Given the description of an element on the screen output the (x, y) to click on. 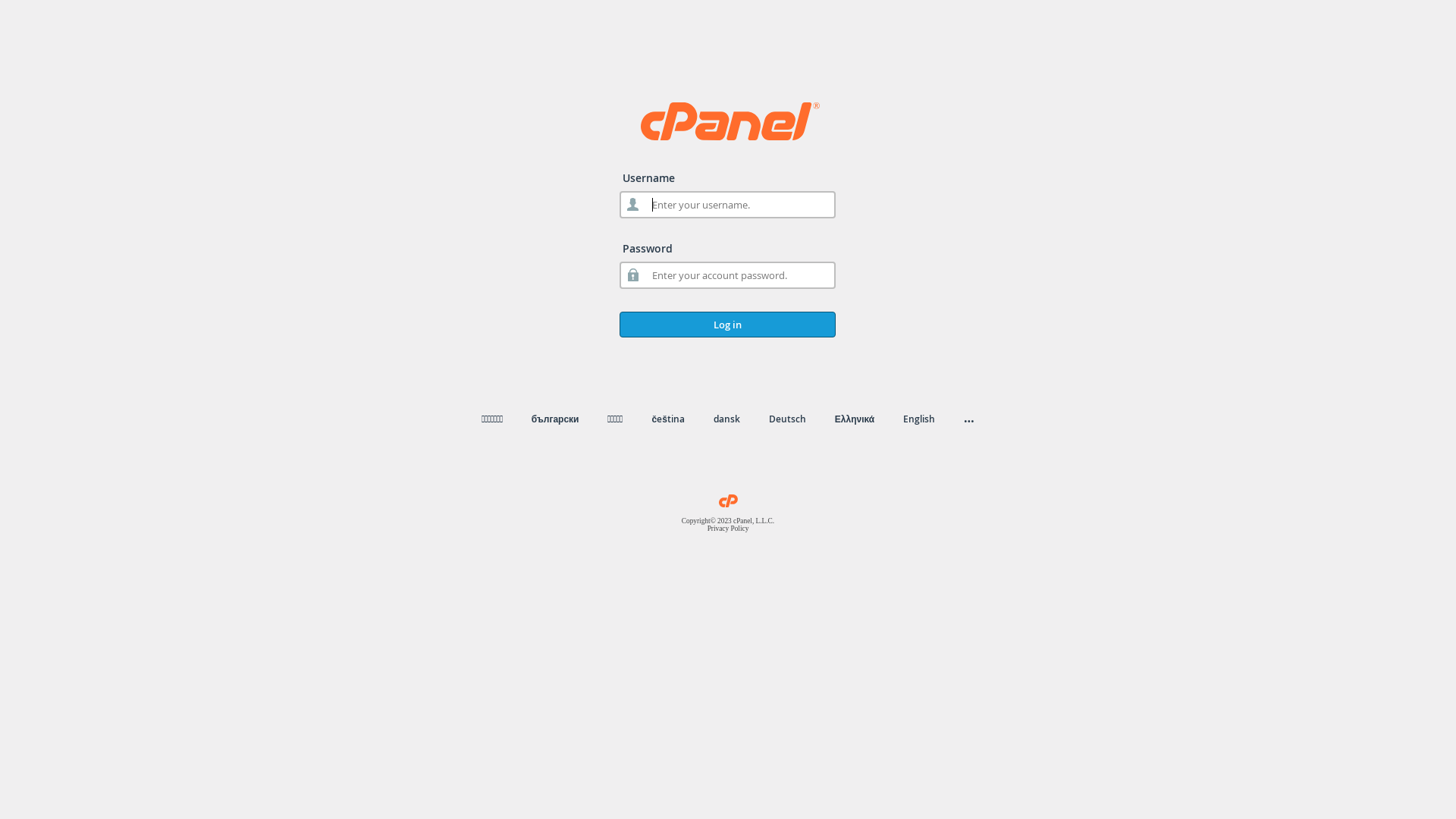
Privacy Policy Element type: text (728, 528)
Log in Element type: text (727, 324)
Deutsch Element type: text (787, 418)
dansk Element type: text (726, 418)
English Element type: text (919, 418)
